Given the description of an element on the screen output the (x, y) to click on. 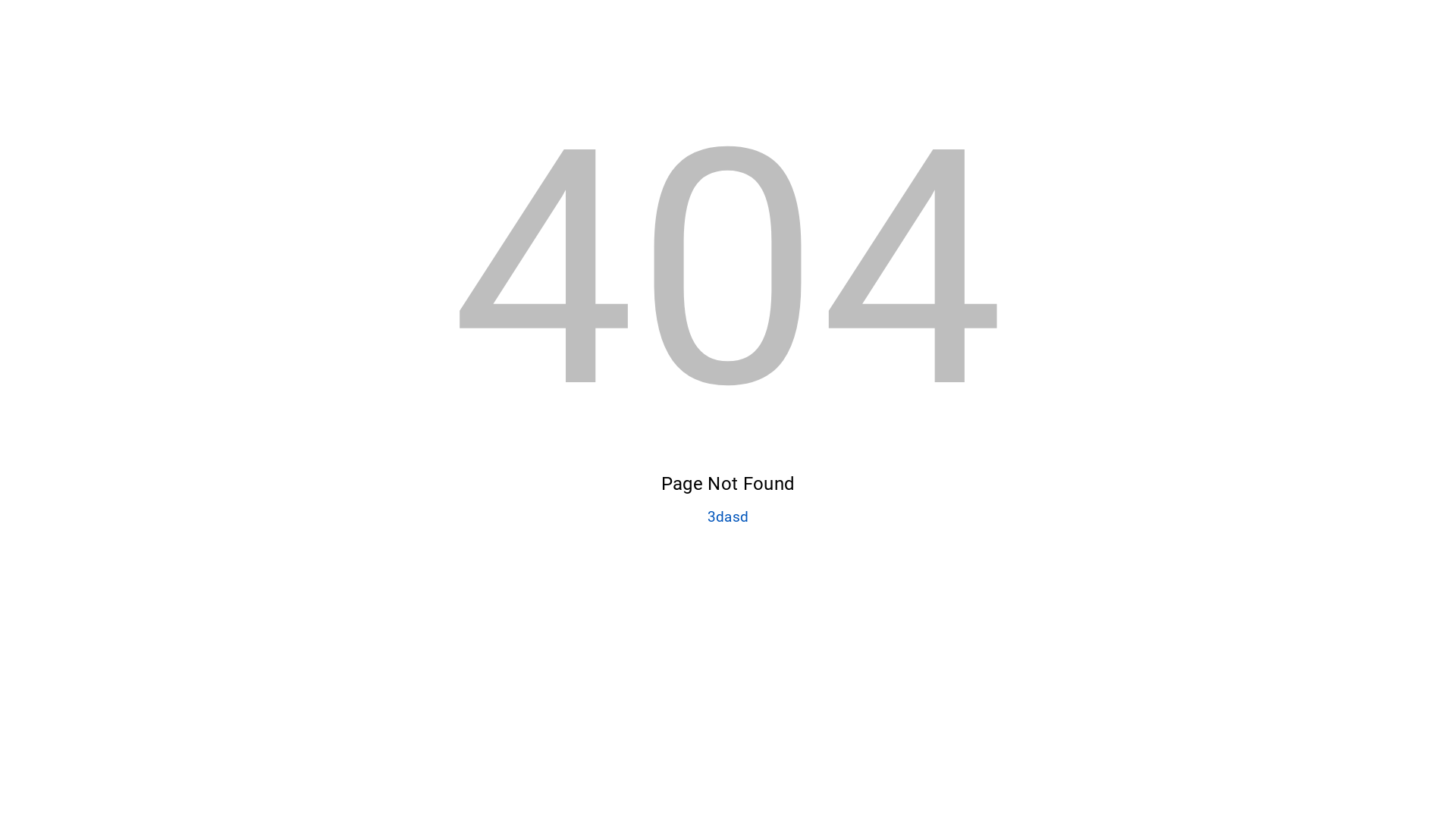
3dasd Element type: text (728, 516)
